Given the description of an element on the screen output the (x, y) to click on. 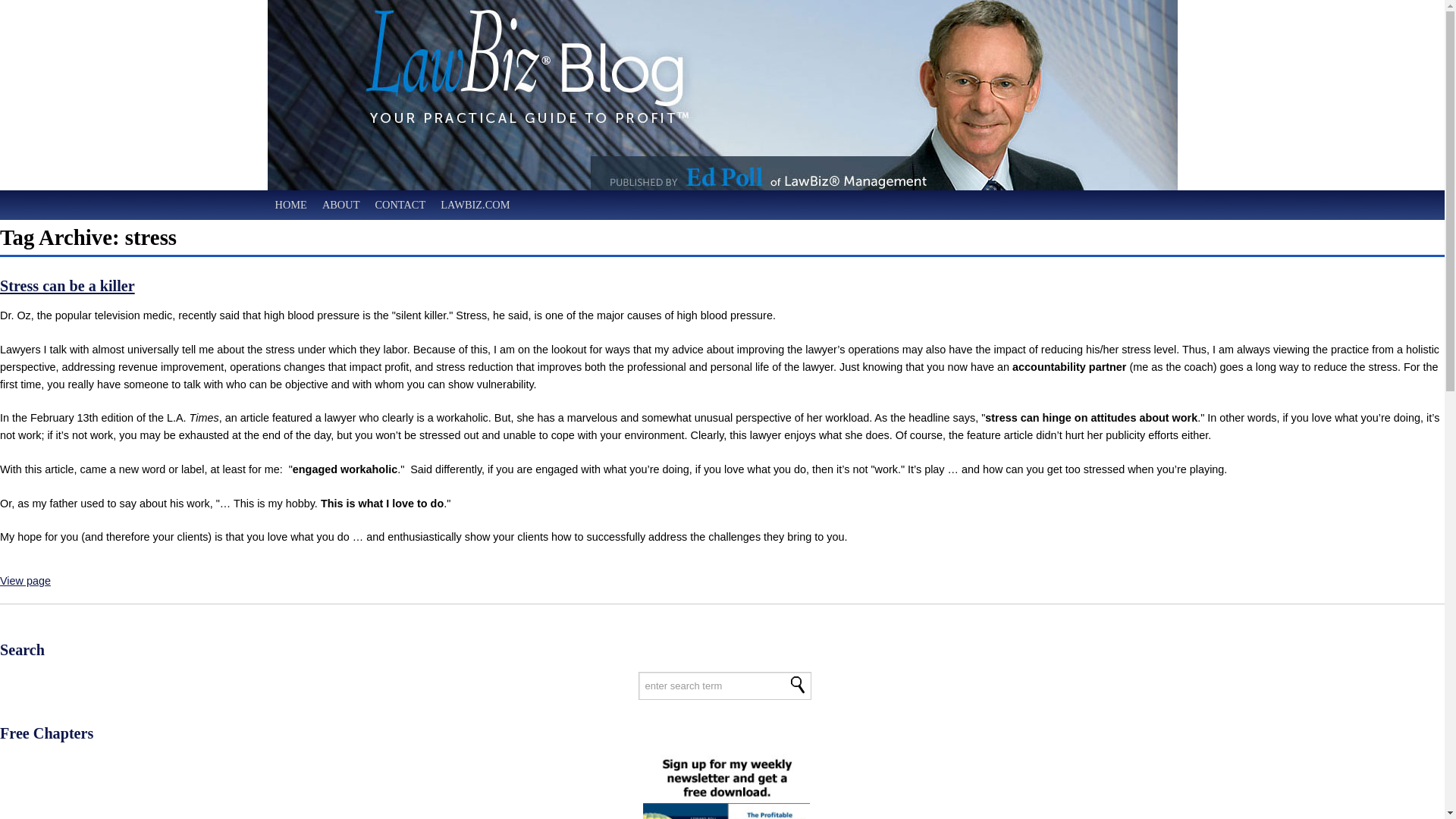
Stress can be a killer (25, 580)
ABOUT (341, 205)
View page (25, 580)
HOME (290, 205)
LAWBIZ.COM (474, 205)
Enter search term (724, 685)
Search (798, 684)
Stress can be a killer (67, 285)
Search (721, 205)
